Given the description of an element on the screen output the (x, y) to click on. 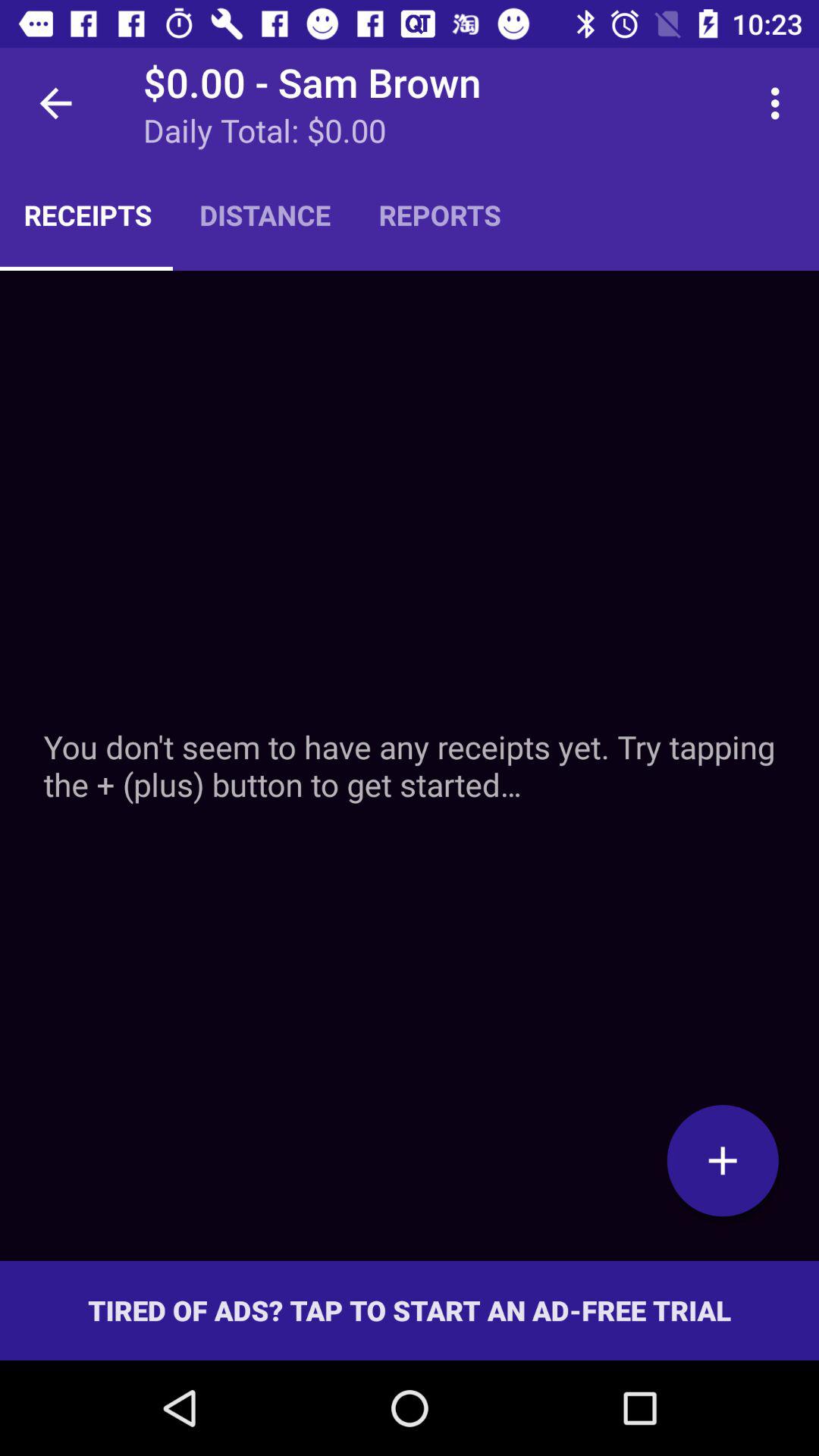
click item above the tired of ads item (409, 765)
